Given the description of an element on the screen output the (x, y) to click on. 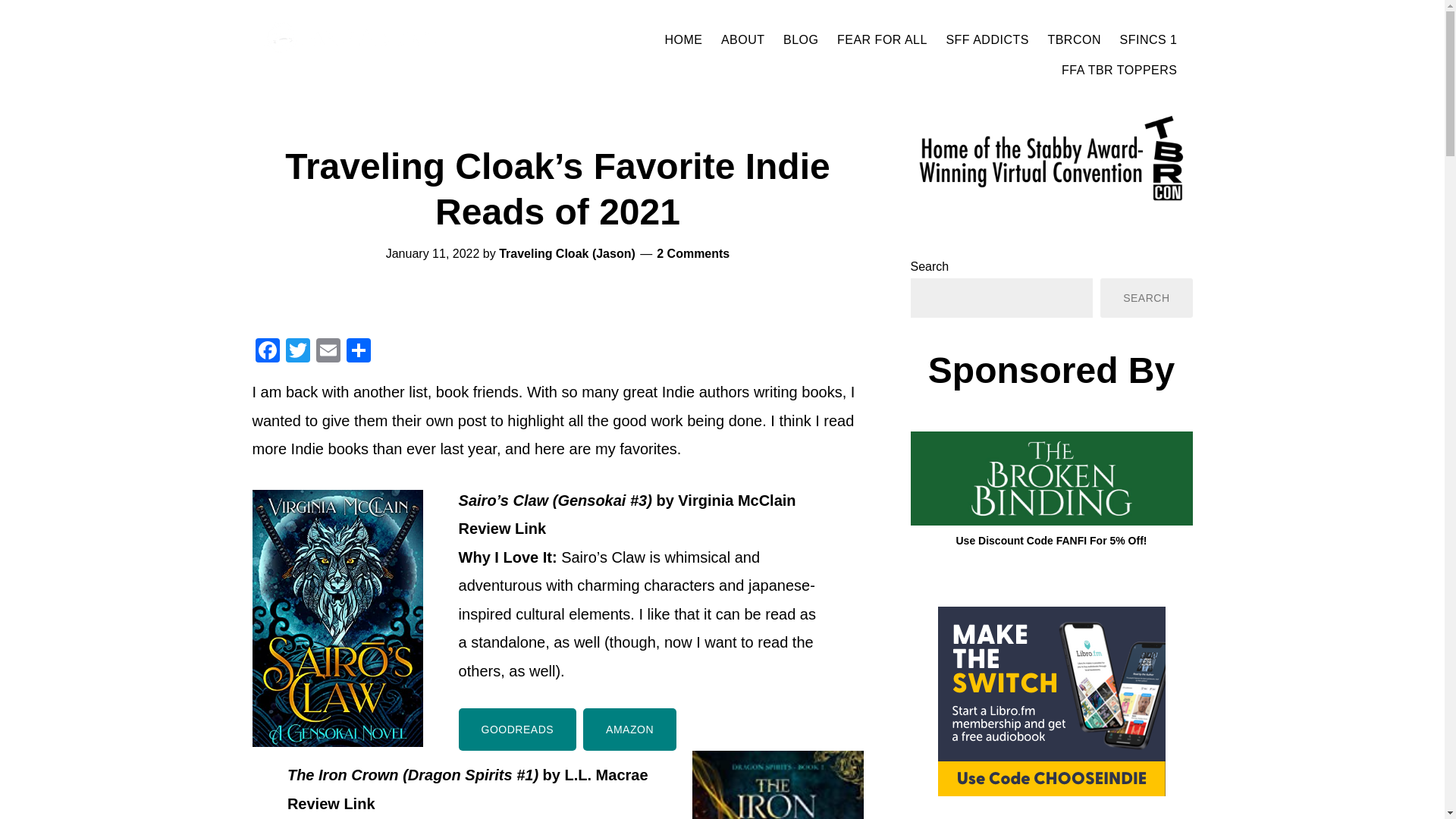
ABOUT (743, 39)
Facebook (266, 352)
BLOG (800, 39)
HOME (683, 39)
Twitter (297, 352)
Email (327, 352)
